Given the description of an element on the screen output the (x, y) to click on. 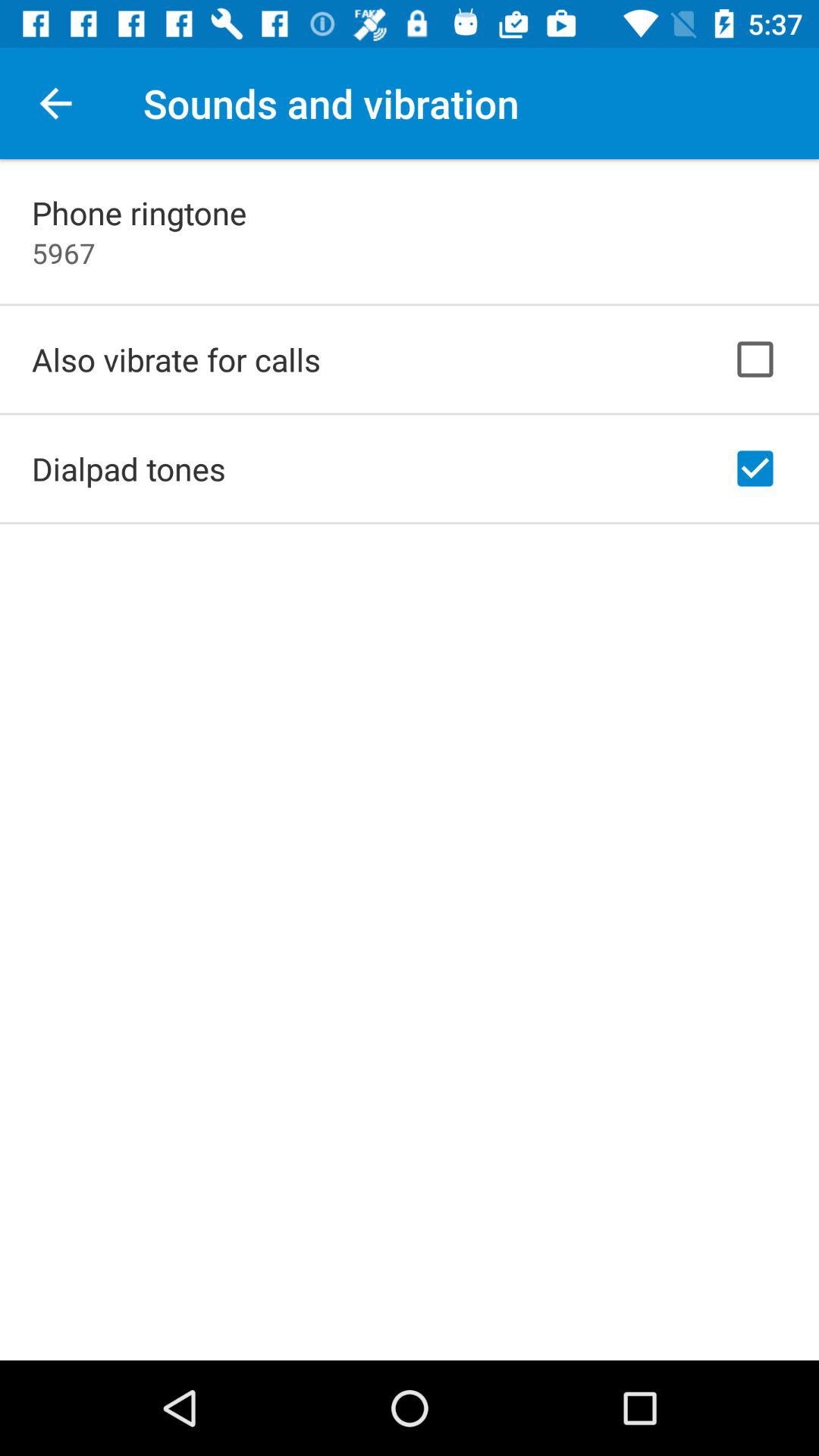
select the icon below the phone ringtone (63, 252)
